Given the description of an element on the screen output the (x, y) to click on. 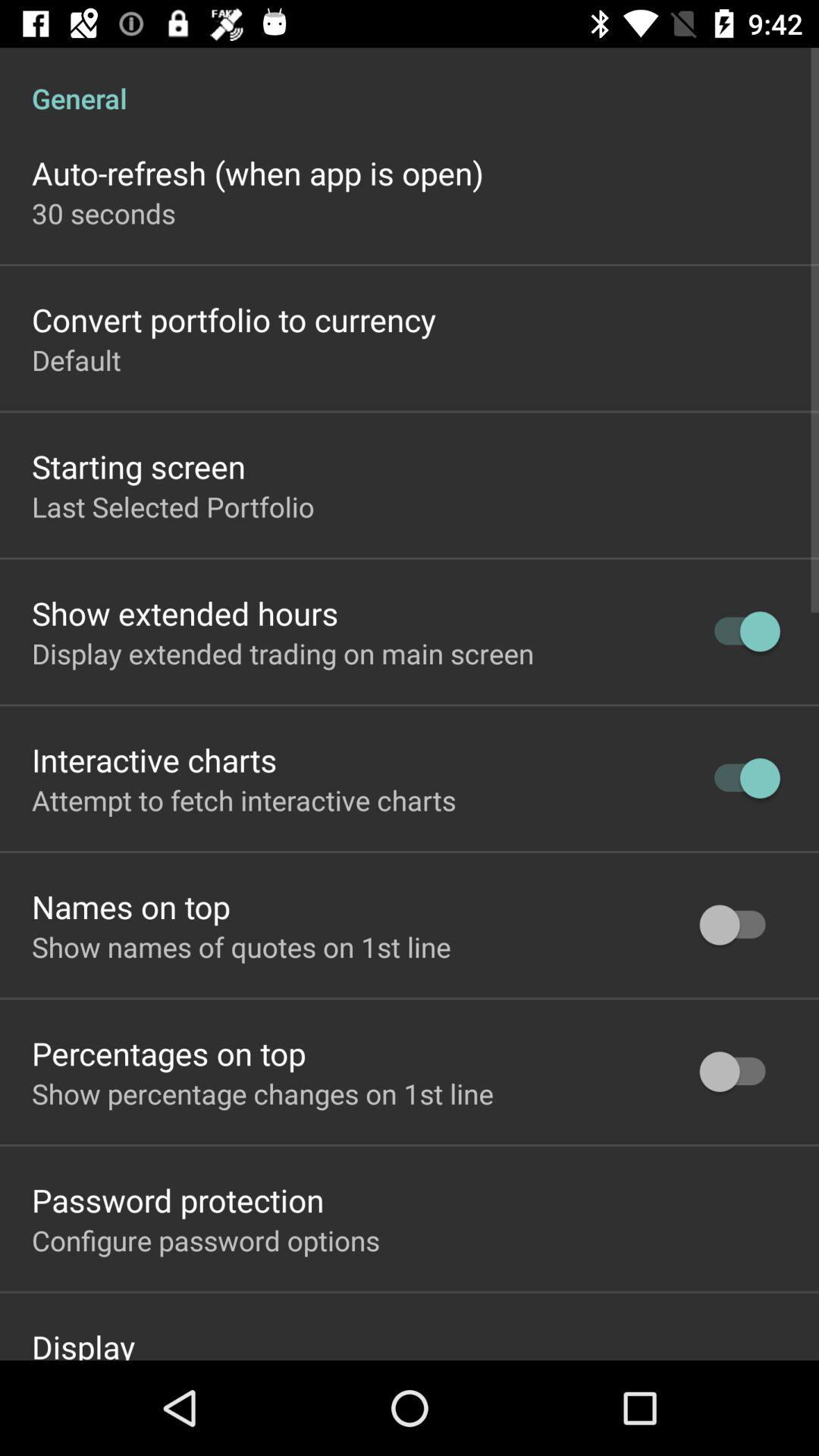
jump to the show names of item (241, 946)
